Given the description of an element on the screen output the (x, y) to click on. 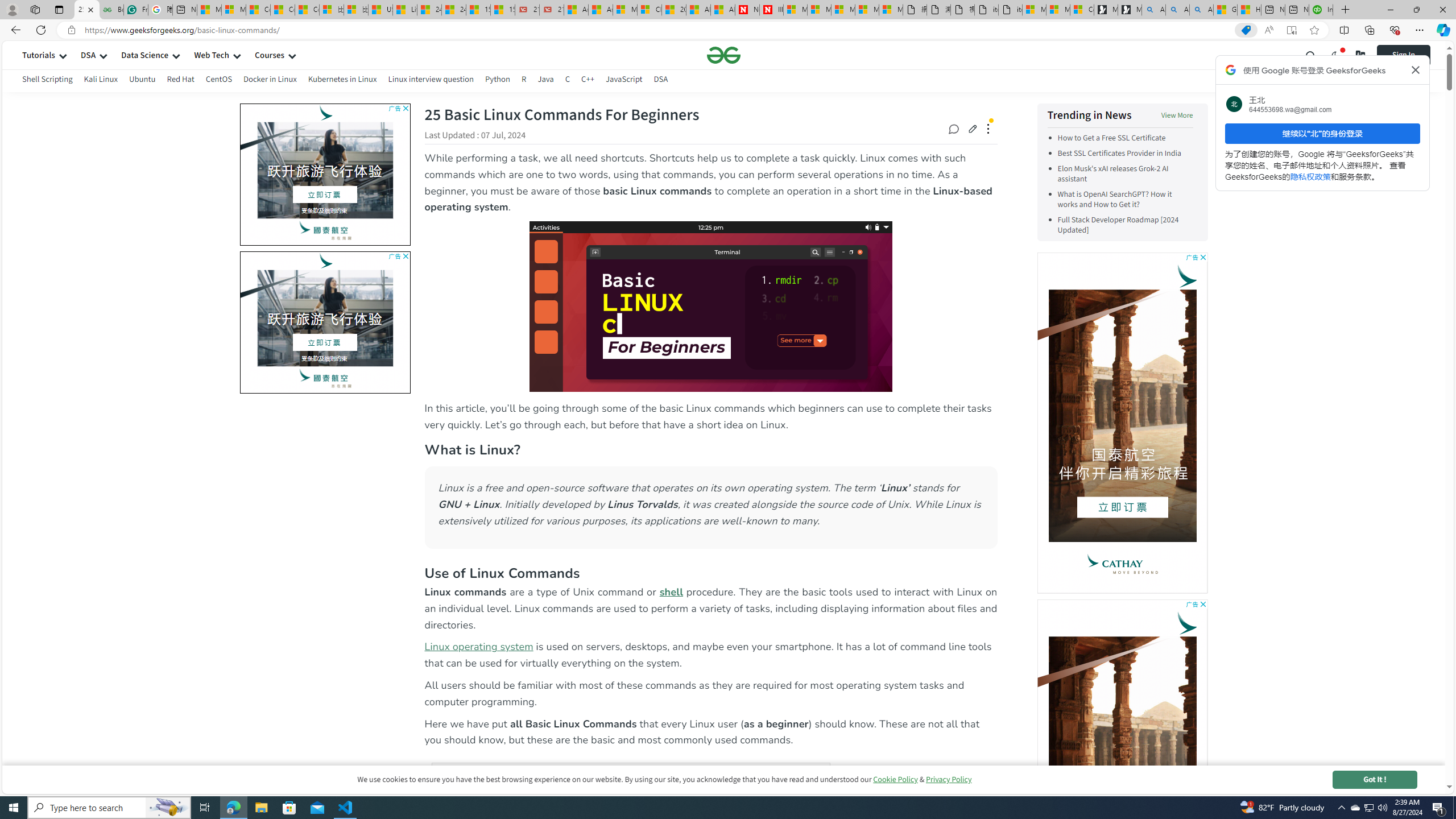
AutomationID: vapourBg (322, 322)
Red Hat (180, 79)
Sign In (1411, 54)
Class: header-main__left-list-item gcse-search_li p-relative (1311, 54)
Lifestyle - MSN (404, 9)
C (567, 79)
Docker in Linux (269, 80)
itconcepthk.com/projector_solutions.mp4 (1009, 9)
Java (545, 79)
15 Ways Modern Life Contradicts the Teachings of Jesus (502, 9)
search (1311, 54)
